Given the description of an element on the screen output the (x, y) to click on. 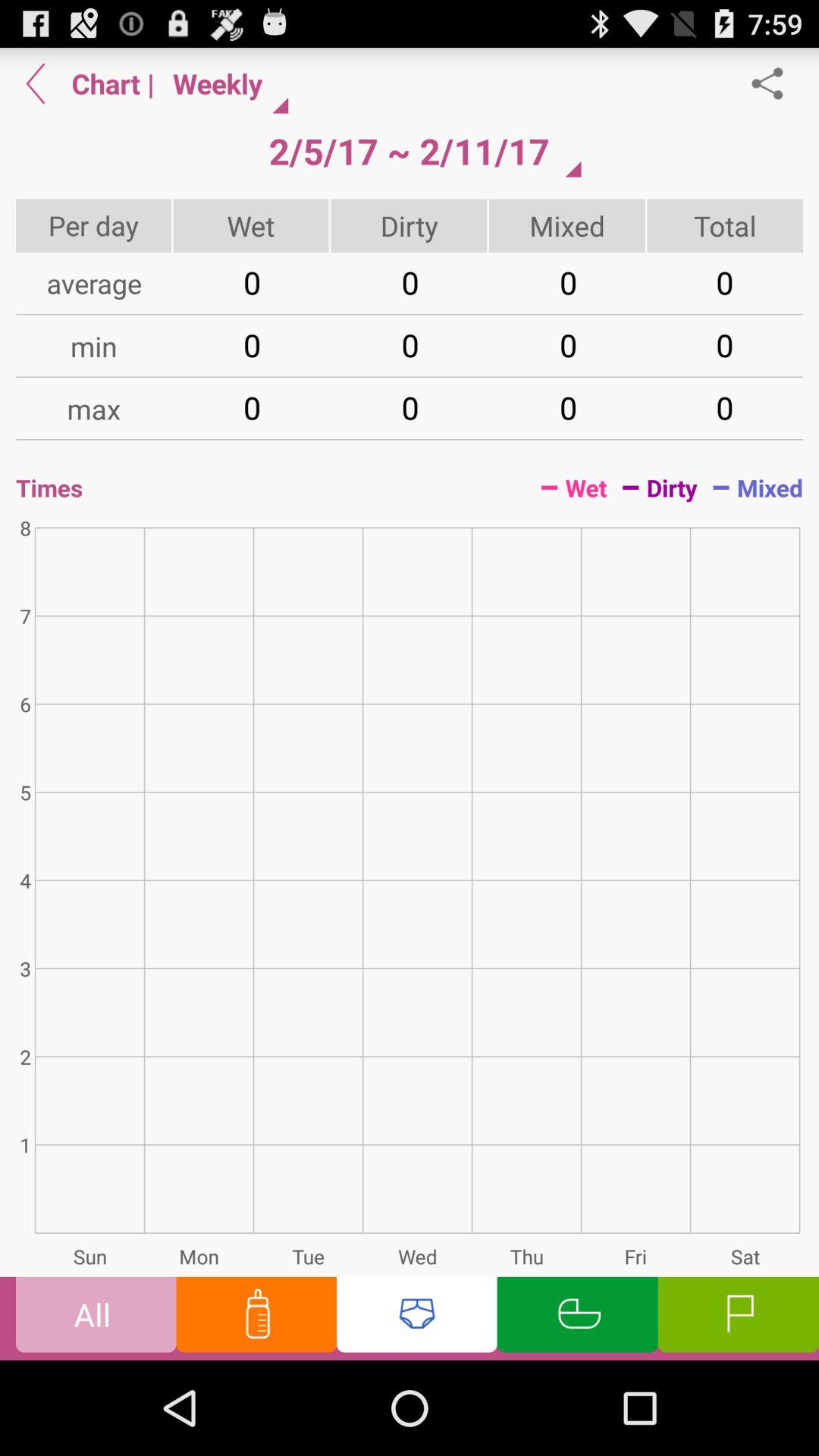
click on previous (35, 83)
